Given the description of an element on the screen output the (x, y) to click on. 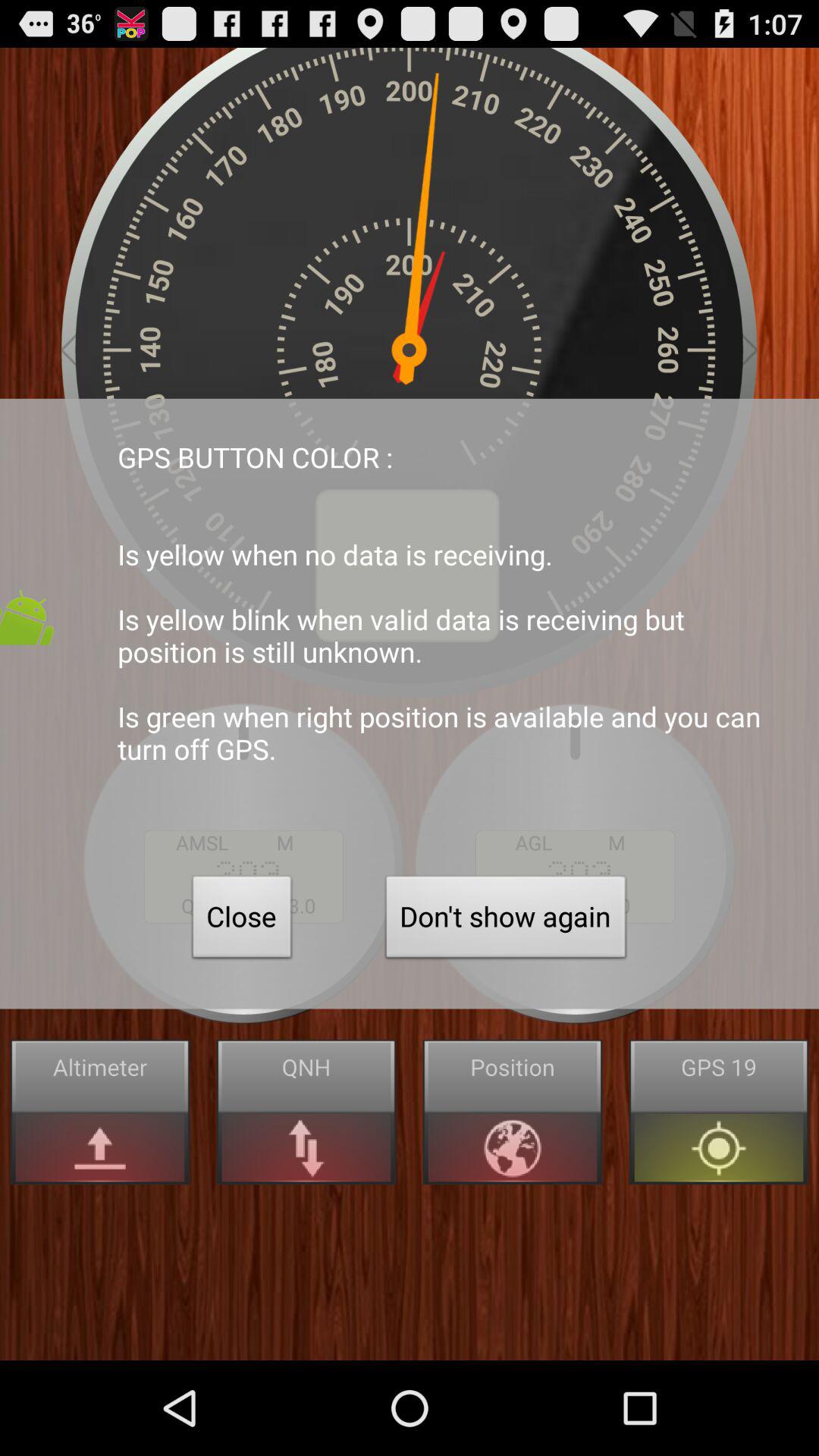
tap the item to the right of the close icon (505, 921)
